Given the description of an element on the screen output the (x, y) to click on. 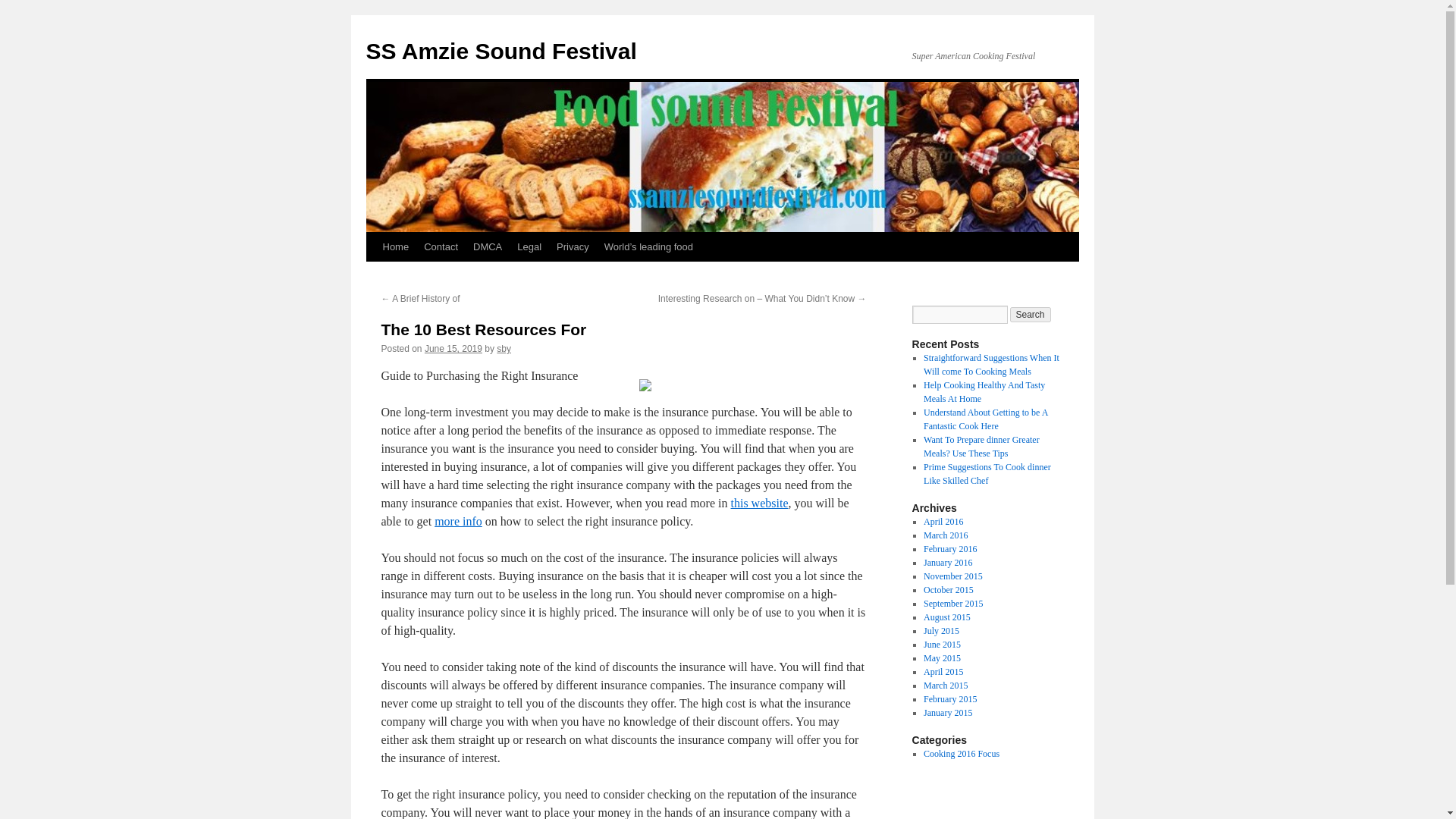
this website (759, 502)
SS Amzie Sound Festival (500, 50)
Privacy (572, 246)
August 2015 (947, 616)
March 2015 (945, 685)
DMCA (487, 246)
Home (395, 246)
September 2015 (952, 603)
February 2015 (949, 698)
Help Cooking Healthy And Tasty Meals At Home (984, 392)
